Given the description of an element on the screen output the (x, y) to click on. 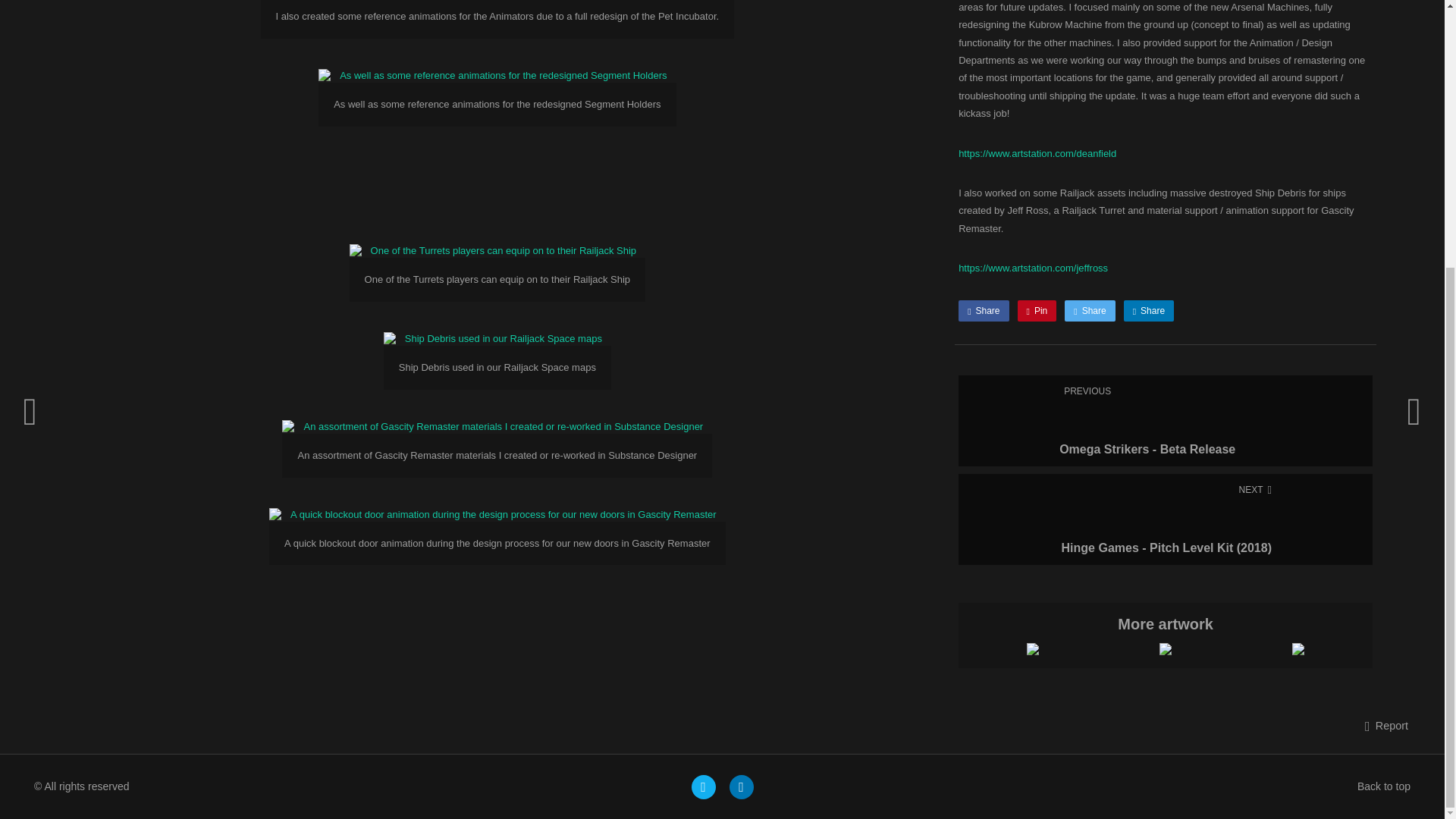
Share (1089, 310)
Share (983, 310)
Back to top (1165, 420)
Report (1379, 786)
Pin (1385, 726)
Back to top (1037, 310)
Share (1379, 786)
